Given the description of an element on the screen output the (x, y) to click on. 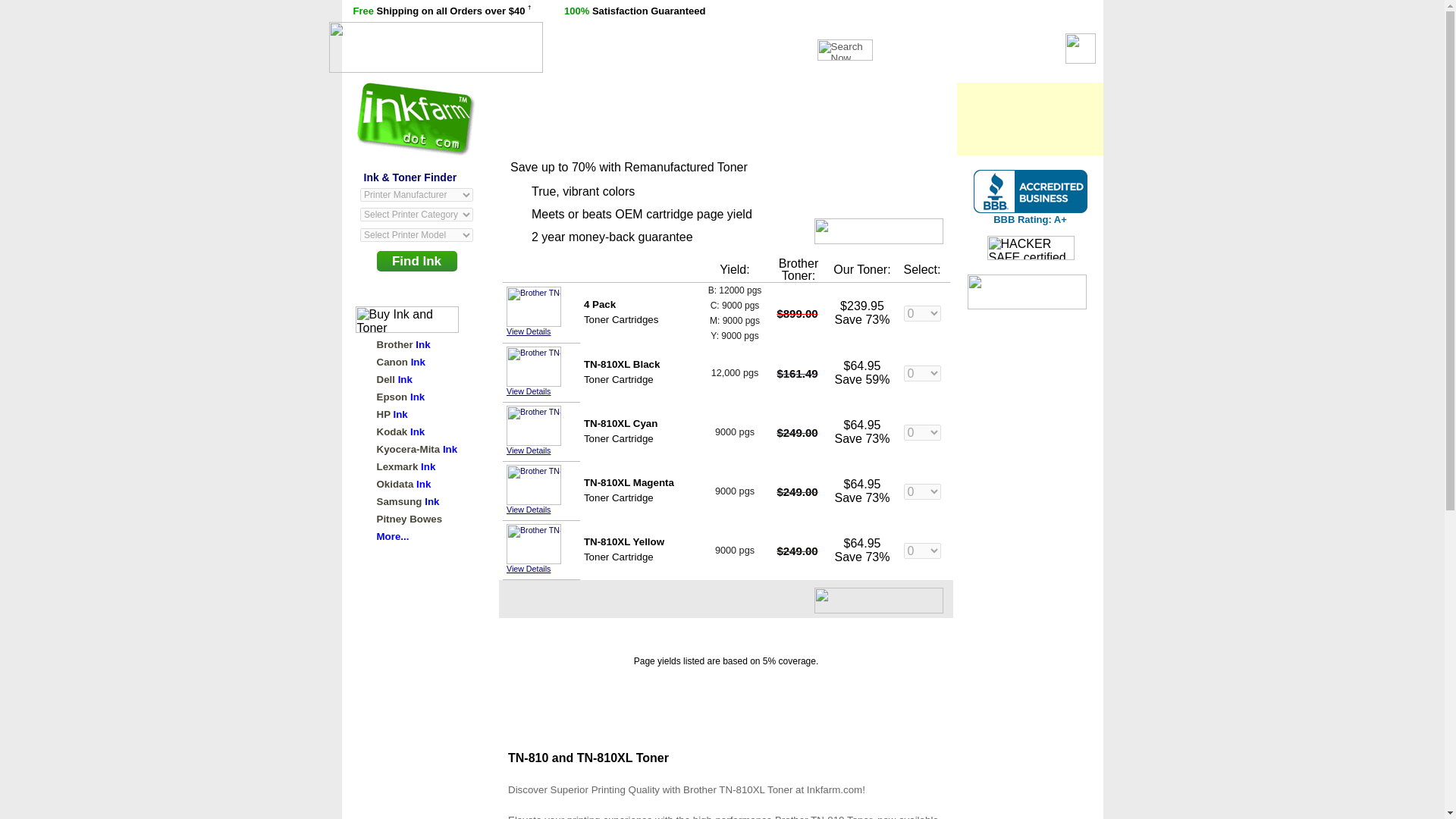
View Details (528, 568)
Kodak Ink (400, 431)
Brother TN-810XL TN-810XL Cyan cartridge (533, 425)
Brother TN-810XL TN-810XL Black cartridge (533, 366)
Canon Ink (400, 361)
Kyocera-Mita Ink (416, 449)
Samsung Ink (407, 501)
View Details (528, 450)
Brother TN-810XL TN-810XL Yellow cartridge (533, 544)
Lexmark Ink (405, 466)
